Given the description of an element on the screen output the (x, y) to click on. 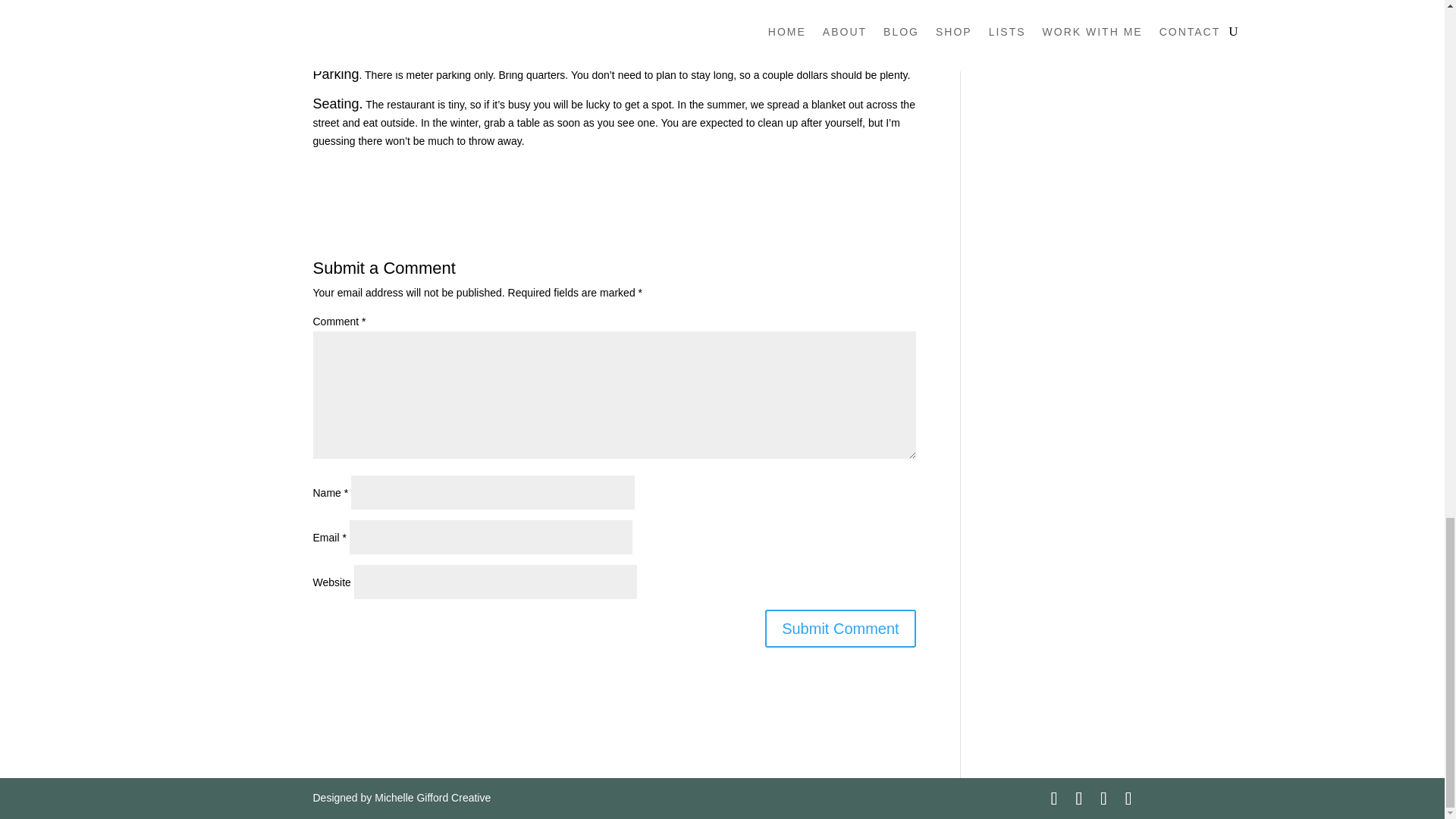
Share on Linkedin (451, 167)
Share on Twitter (371, 167)
Submit Comment (840, 628)
Submit Comment (840, 628)
Share on Facebook (331, 167)
Pin it with Pinterest (411, 167)
